Given the description of an element on the screen output the (x, y) to click on. 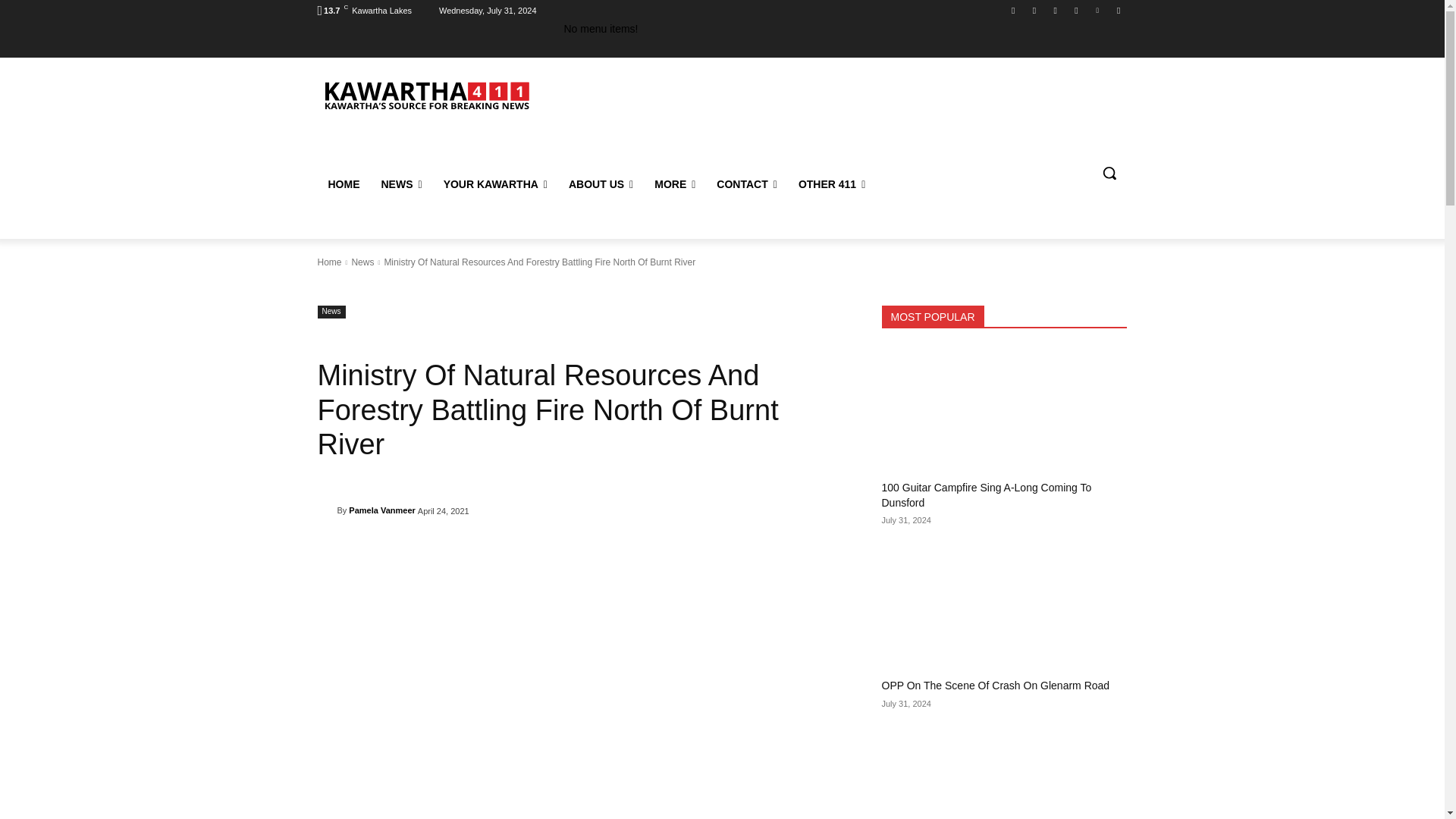
View all posts in News (362, 262)
Kawartha 411 News (425, 94)
Paypal (1055, 9)
Instagram (1034, 9)
Facebook (1013, 9)
Youtube (1117, 9)
Twitter (1097, 9)
Telegram (1075, 9)
